Given the description of an element on the screen output the (x, y) to click on. 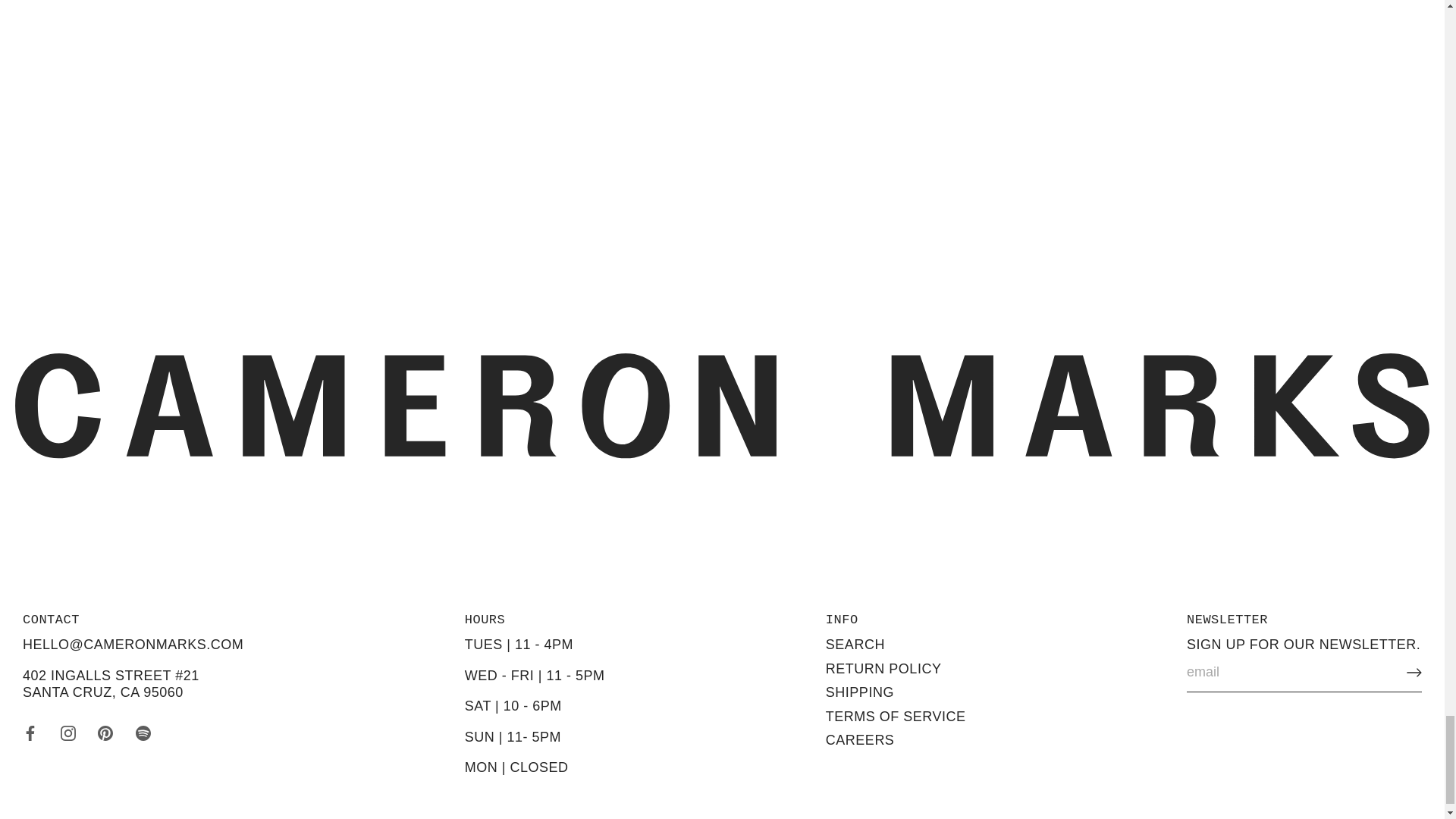
INSTAGRAM (68, 733)
RIGHT ARROW LONG (1414, 672)
Map (111, 684)
PINTEREST (105, 733)
